Given the description of an element on the screen output the (x, y) to click on. 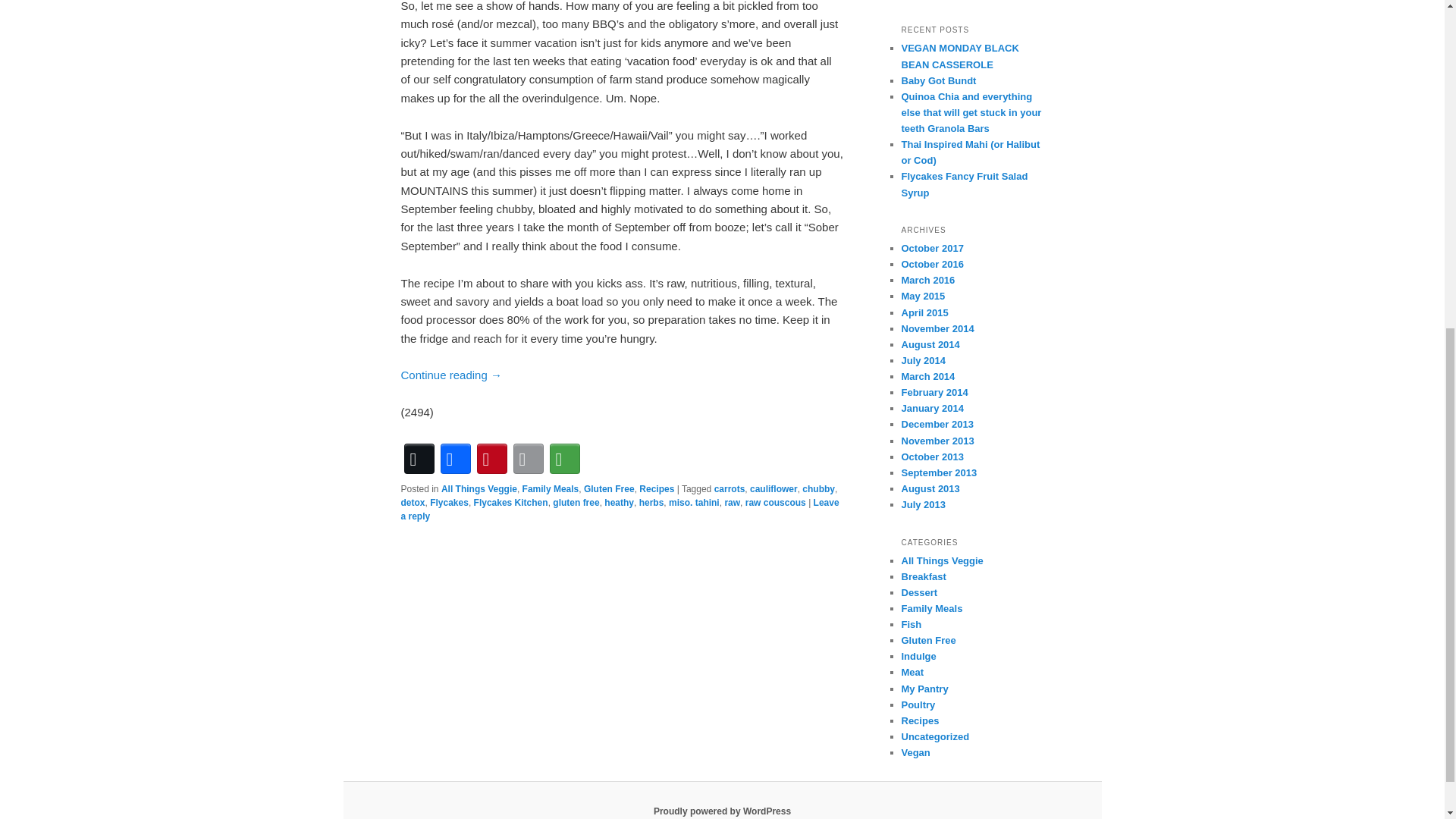
Pinterest (491, 458)
carrots (729, 489)
Family Meals (550, 489)
detox (412, 502)
chubby (818, 489)
Gluten Free (608, 489)
Semantic Personal Publishing Platform (721, 810)
Facebook (454, 458)
All Things Veggie (478, 489)
cauliflower (773, 489)
